Given the description of an element on the screen output the (x, y) to click on. 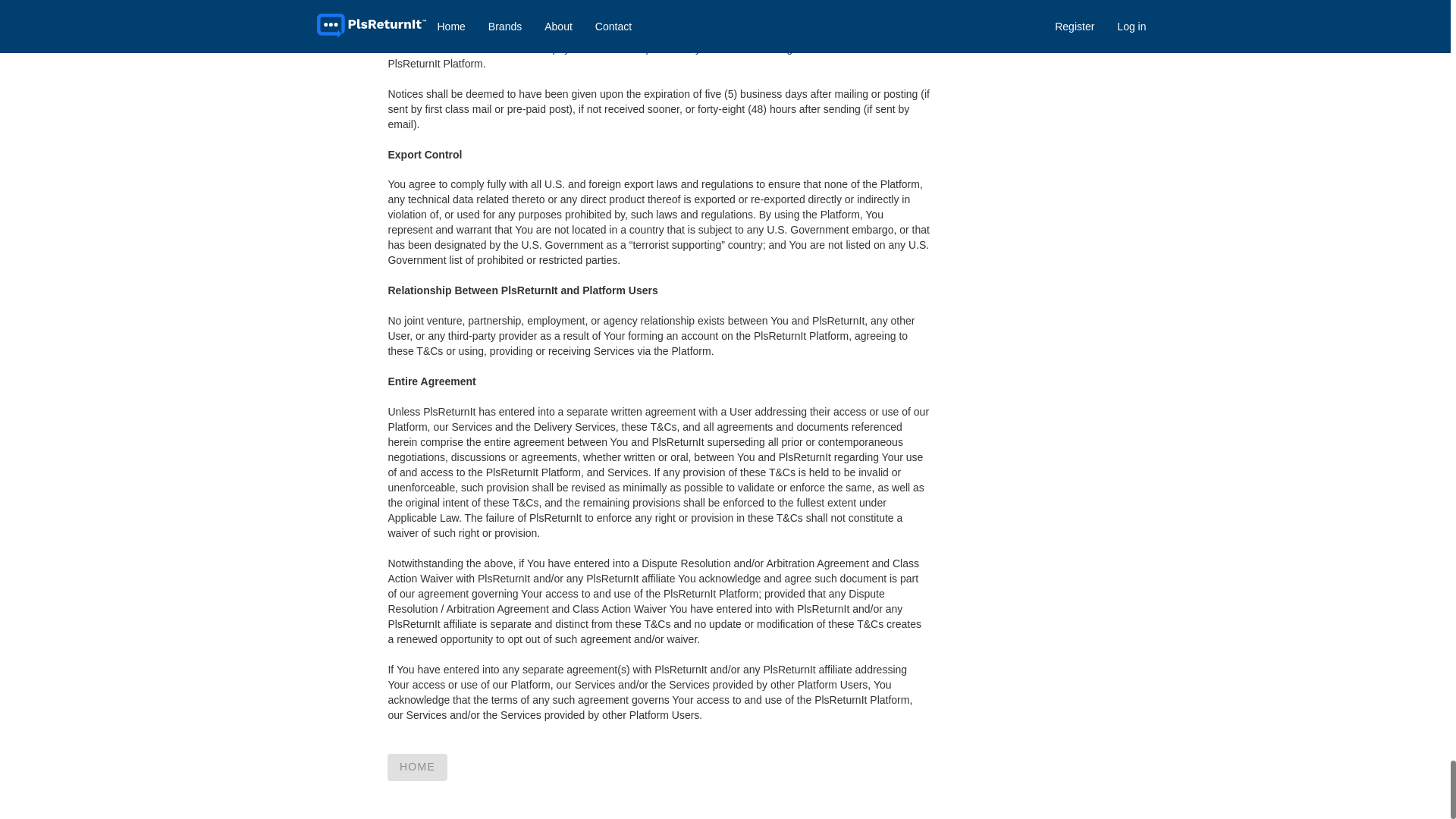
HOME (416, 767)
